Given the description of an element on the screen output the (x, y) to click on. 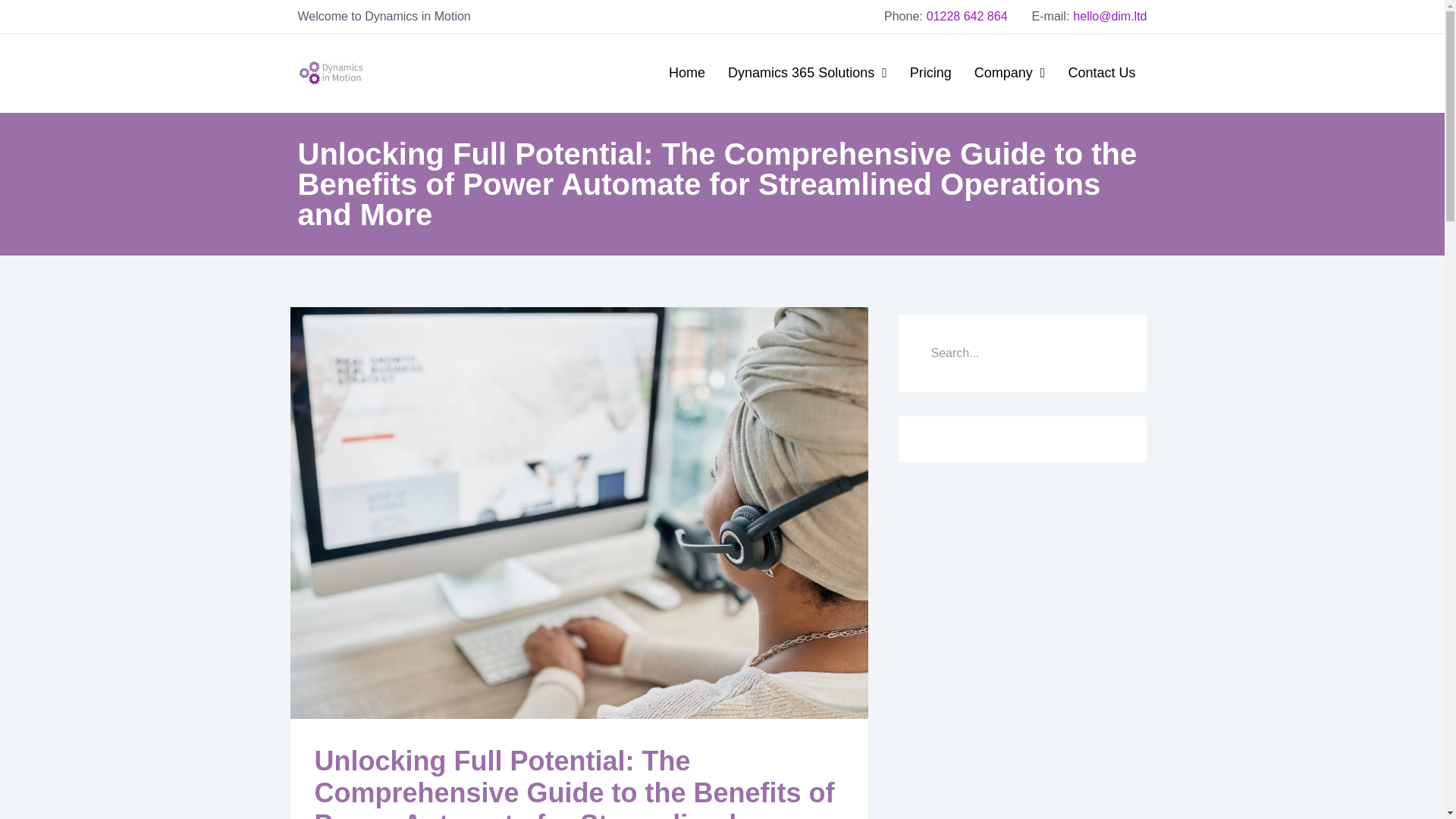
Home (687, 73)
Dynamics 365 Solutions (807, 73)
01228 642 864 (966, 16)
Company (1009, 73)
Contact Us (1102, 73)
Pricing (930, 73)
